Given the description of an element on the screen output the (x, y) to click on. 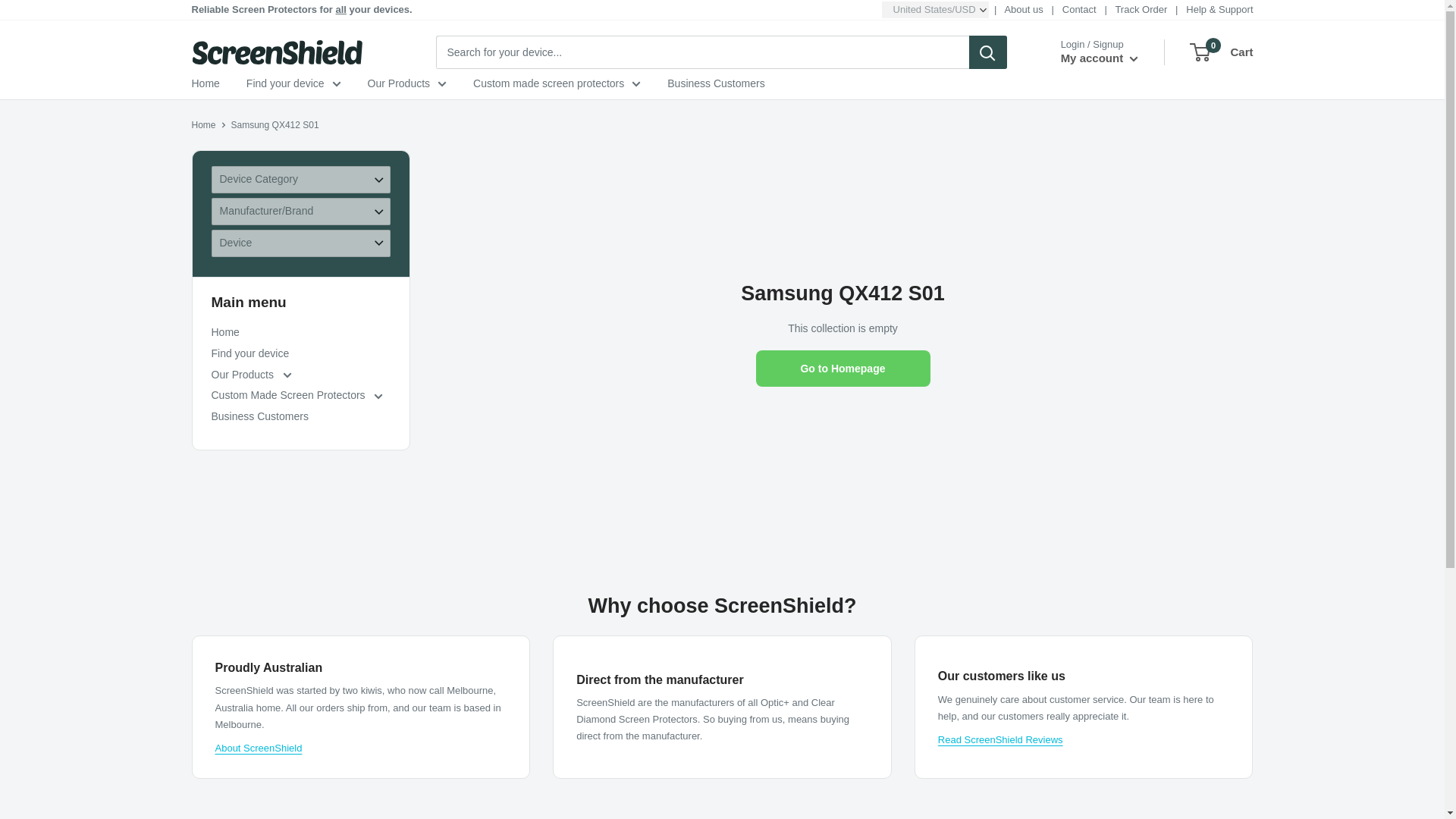
Track Order (1141, 9)
Contact (1079, 9)
About us (1023, 9)
